Given the description of an element on the screen output the (x, y) to click on. 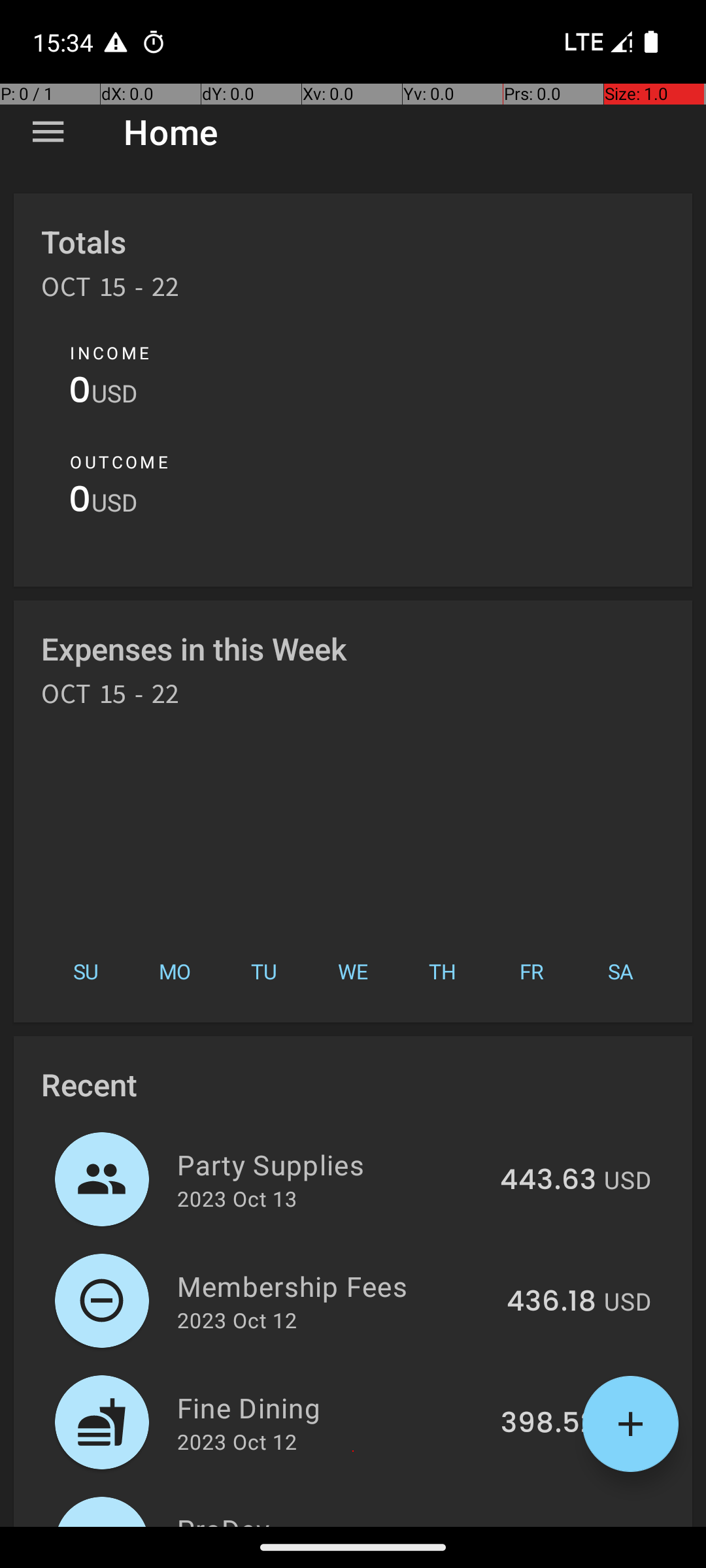
Party Supplies Element type: android.widget.TextView (330, 1164)
443.63 Element type: android.widget.TextView (547, 1180)
Membership Fees Element type: android.widget.TextView (334, 1285)
436.18 Element type: android.widget.TextView (550, 1301)
Fine Dining Element type: android.widget.TextView (331, 1407)
398.52 Element type: android.widget.TextView (548, 1423)
ProDev Element type: android.widget.TextView (331, 1518)
475.63 Element type: android.widget.TextView (548, 1524)
